Given the description of an element on the screen output the (x, y) to click on. 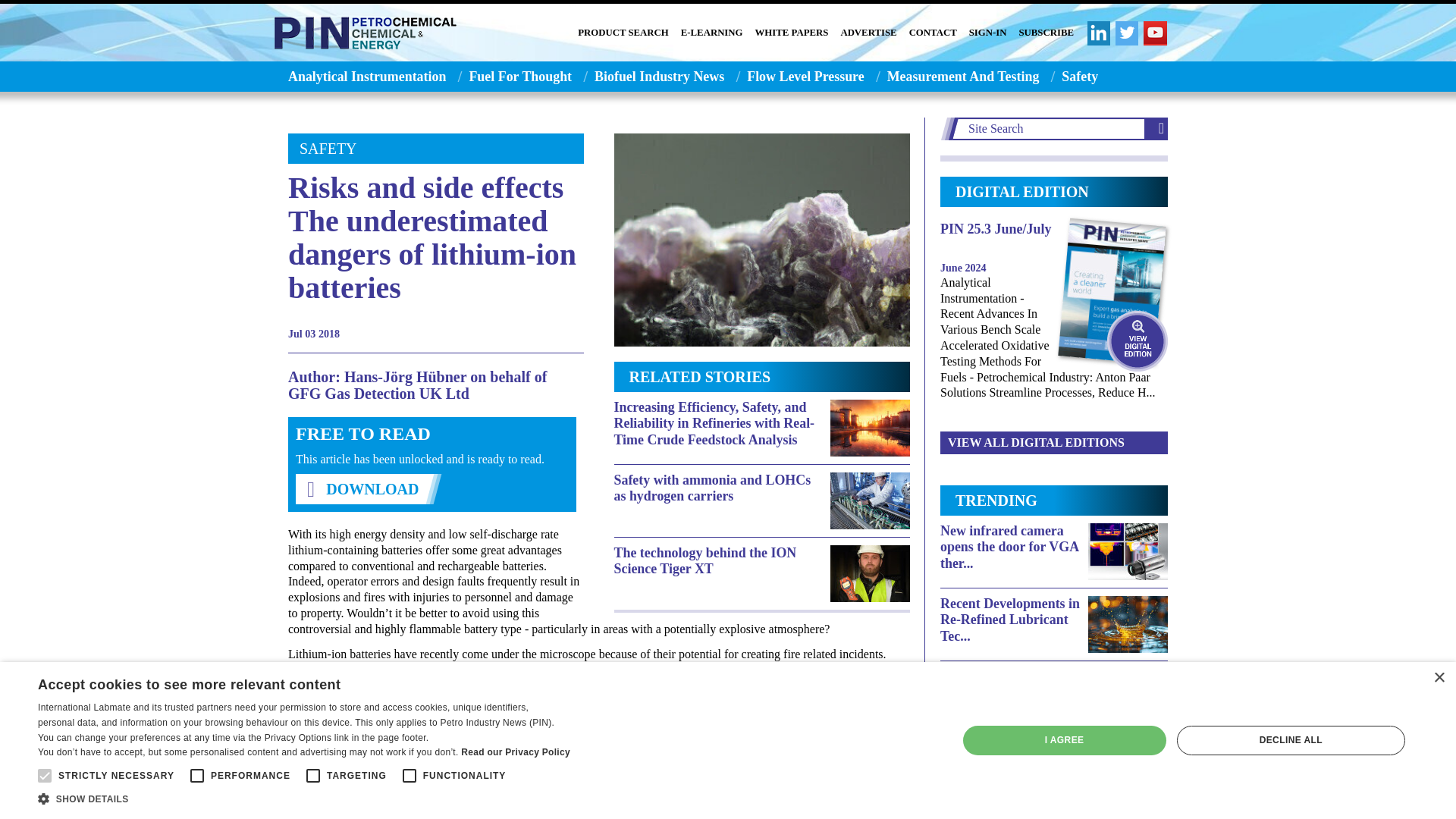
Analytical Instrumentation (362, 76)
CONTACT (932, 32)
ADVERTISE (868, 32)
WHITE PAPERS (791, 32)
PRODUCT SEARCH (623, 32)
E-LEARNING (711, 32)
SIGN-IN (988, 32)
SUBSCRIBE (1045, 32)
Fuel For Thought (520, 76)
